Given the description of an element on the screen output the (x, y) to click on. 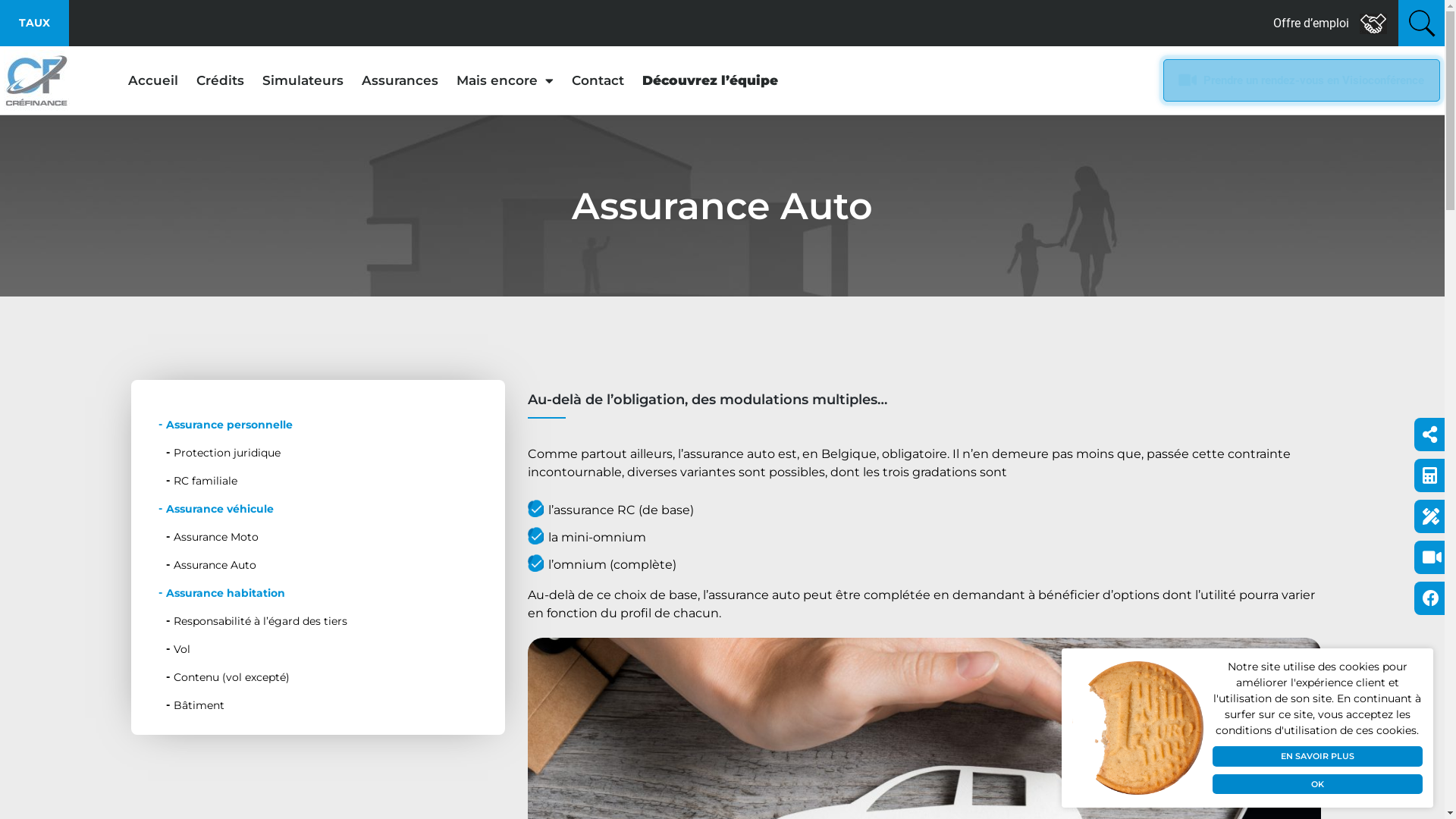
Simulateurs Element type: text (302, 80)
Accueil Element type: text (153, 80)
Assurance Moto Element type: text (321, 537)
OK Element type: text (1317, 783)
Assurance personnelle Element type: text (317, 425)
Vol Element type: text (321, 649)
Mais encore Element type: text (504, 80)
Assurances Element type: text (399, 80)
Assurance habitation Element type: text (317, 593)
Contact Element type: text (597, 80)
Assurance Auto Element type: text (321, 565)
Logo crefinance-3XVEVdQpS1 Element type: hover (36, 80)
RC familiale Element type: text (321, 481)
Protection juridique Element type: text (321, 453)
EN SAVOIR PLUS Element type: text (1317, 756)
